Given the description of an element on the screen output the (x, y) to click on. 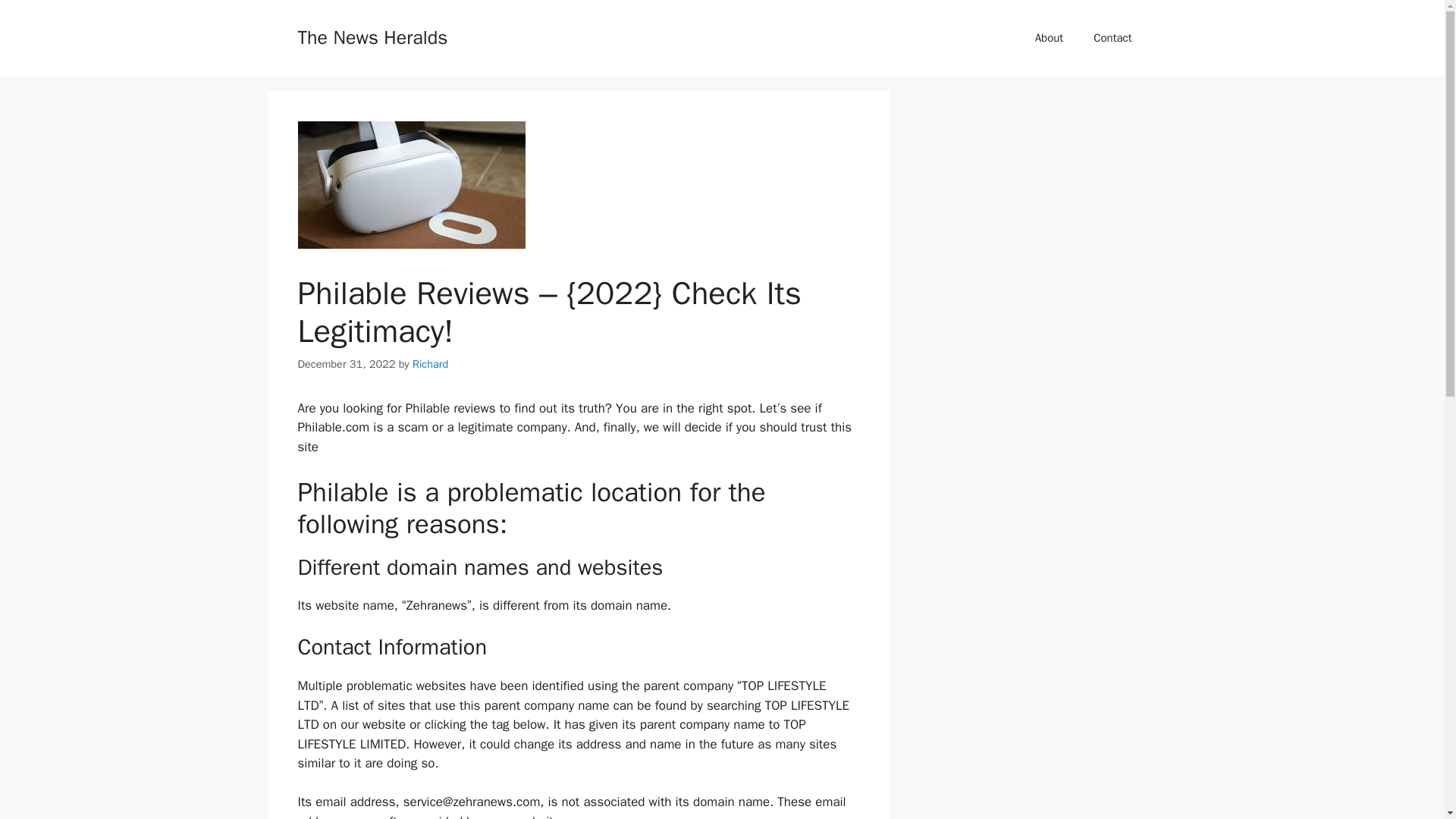
About (1049, 37)
View all posts by Richard (430, 364)
Richard (430, 364)
Contact (1112, 37)
The News Heralds (371, 37)
